Given the description of an element on the screen output the (x, y) to click on. 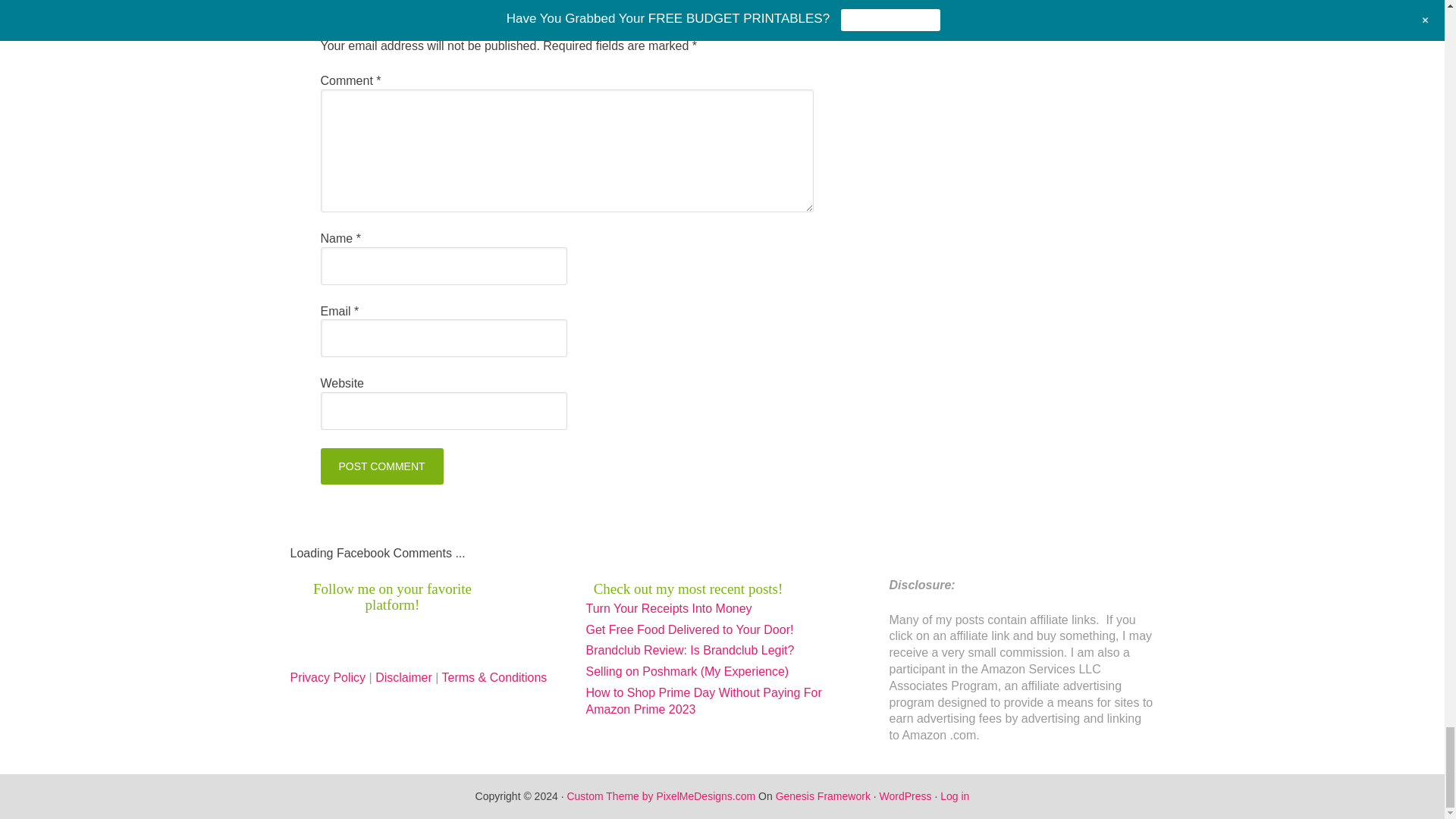
Post Comment (381, 465)
